Given the description of an element on the screen output the (x, y) to click on. 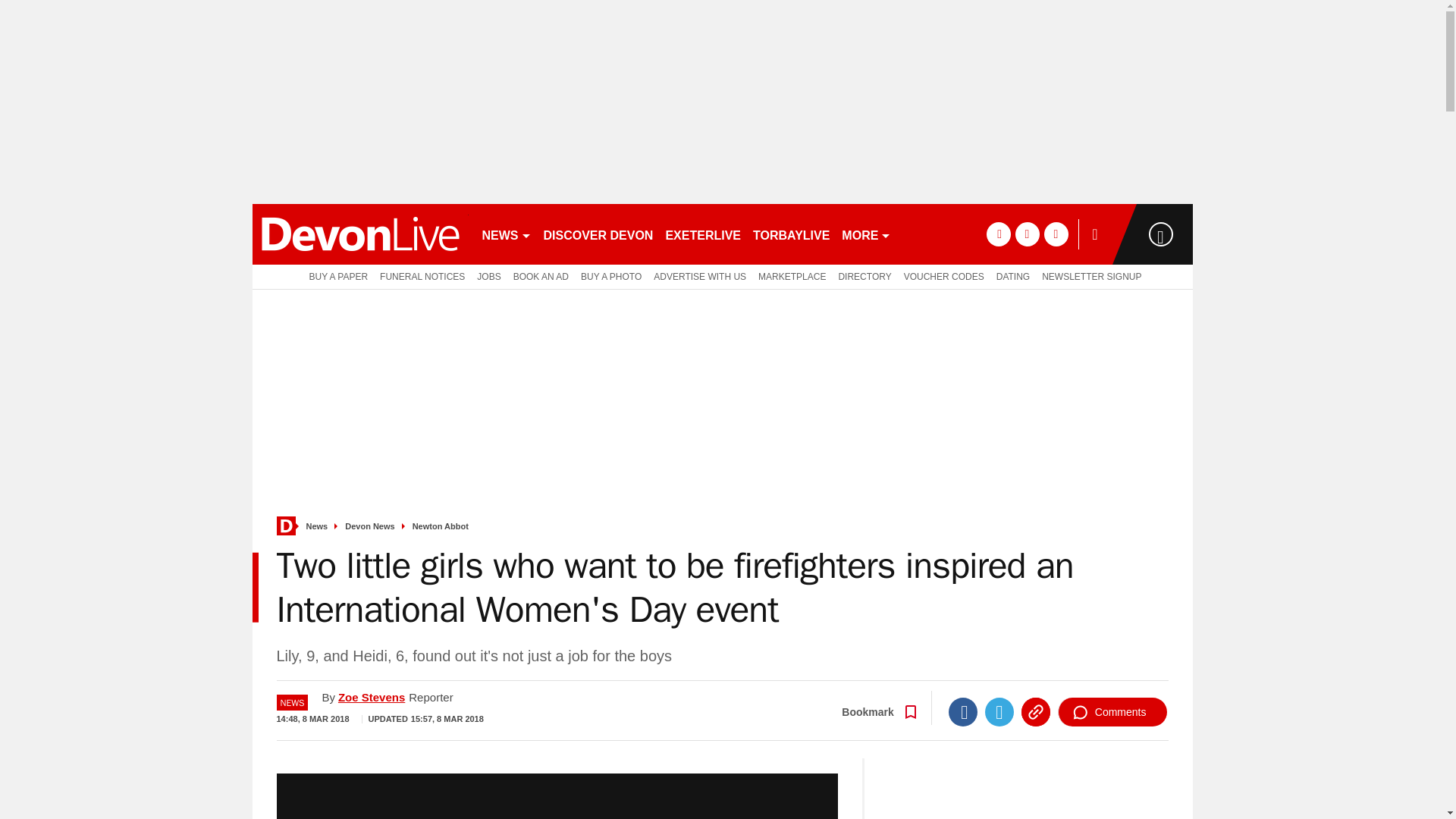
MORE (865, 233)
devonlive (359, 233)
DISCOVER DEVON (598, 233)
TORBAYLIVE (790, 233)
twitter (1026, 233)
instagram (1055, 233)
facebook (997, 233)
NEWS (506, 233)
Facebook (962, 711)
EXETERLIVE (702, 233)
